Given the description of an element on the screen output the (x, y) to click on. 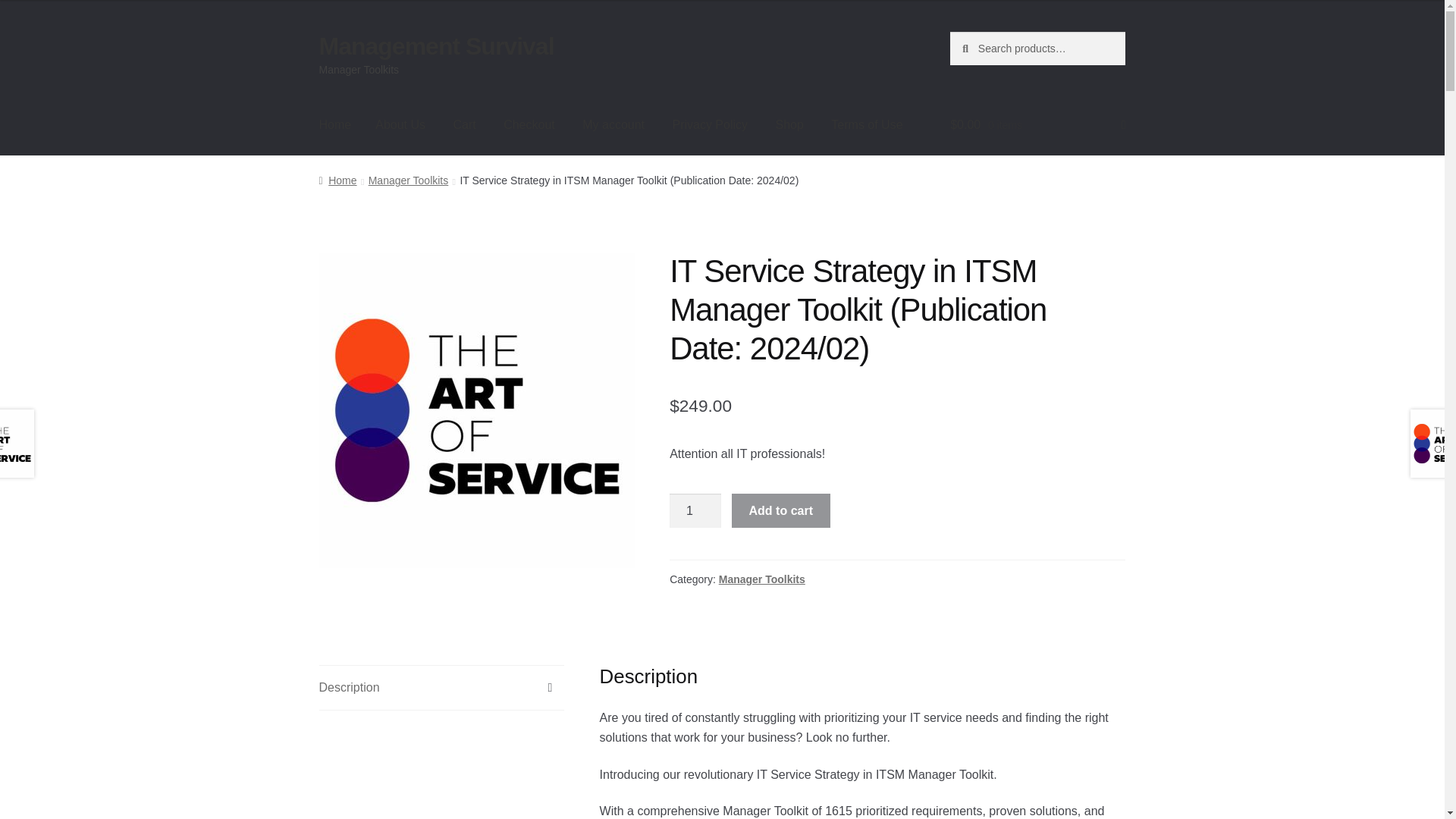
1 (694, 510)
View your shopping cart (1037, 124)
Manager Toolkits (408, 180)
Description (441, 687)
My account (613, 124)
Terms of Use (866, 124)
Add to cart (780, 510)
Privacy Policy (709, 124)
Checkout (529, 124)
